Given the description of an element on the screen output the (x, y) to click on. 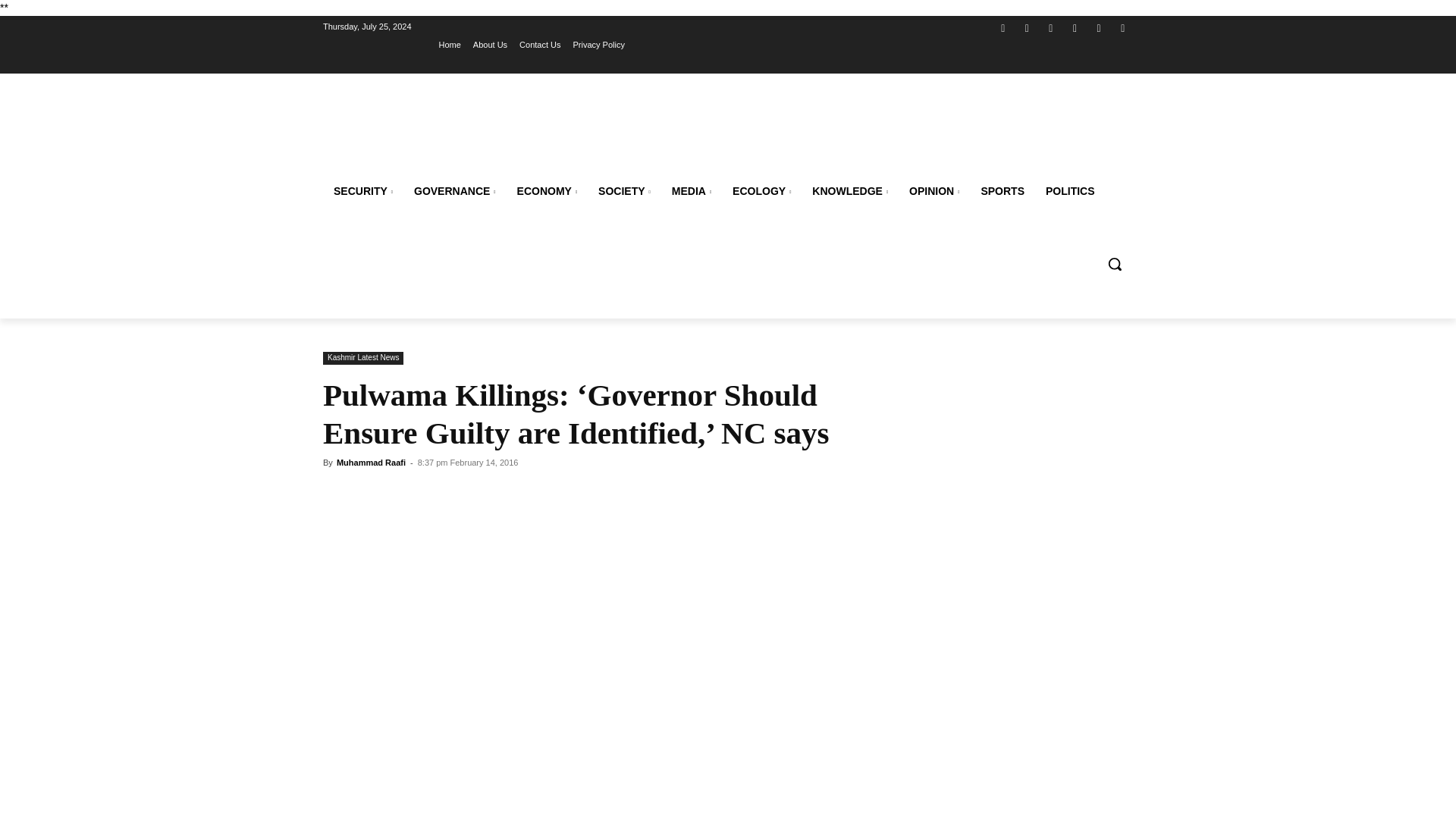
Instagram (1026, 28)
Twitter (1051, 28)
Youtube (1122, 28)
WhatsApp (1099, 28)
Website (1074, 28)
Facebook (1002, 28)
